Given the description of an element on the screen output the (x, y) to click on. 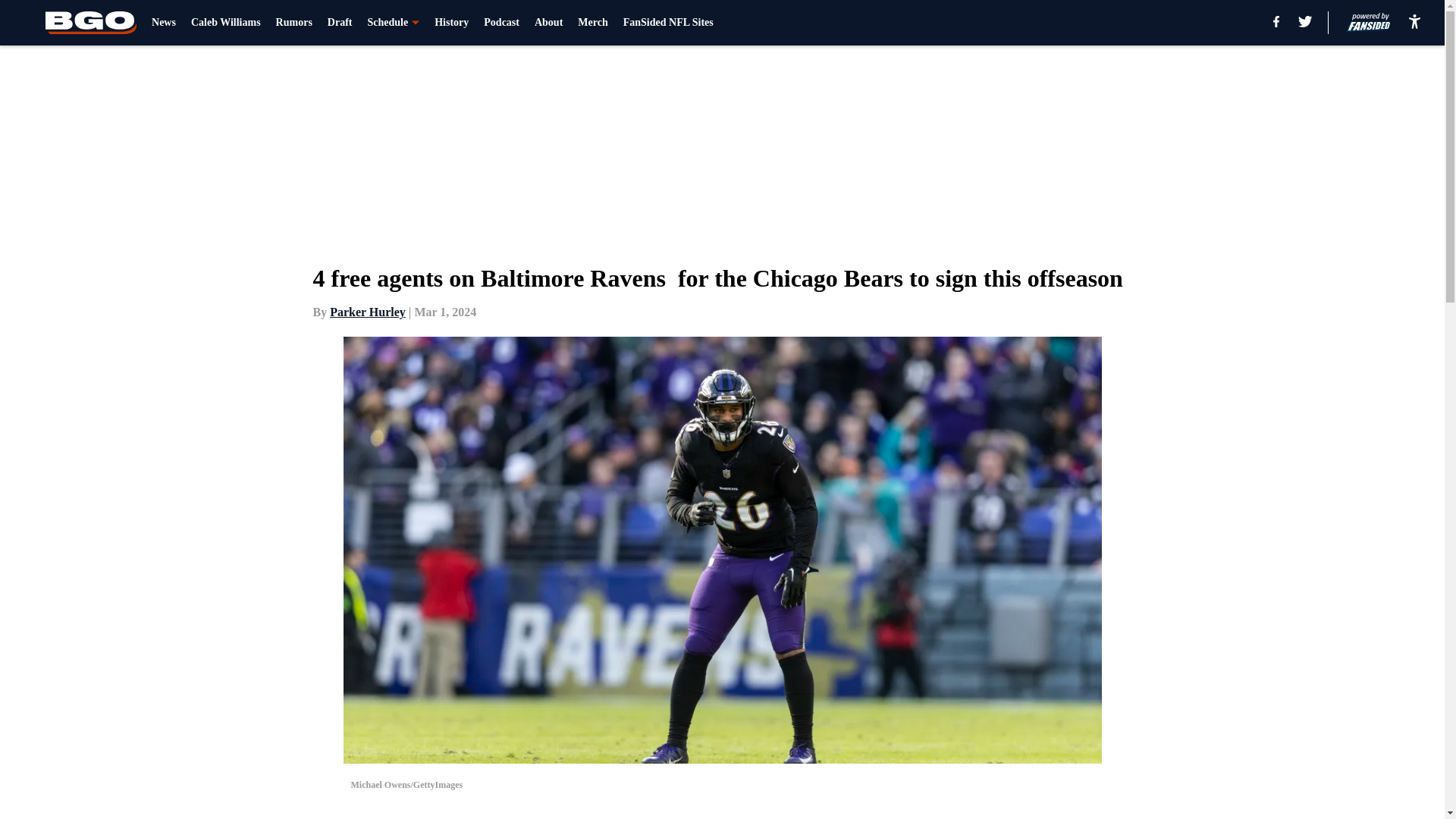
Draft (339, 22)
Merch (592, 22)
About (548, 22)
Caleb Williams (225, 22)
History (450, 22)
FanSided NFL Sites (668, 22)
Rumors (294, 22)
Podcast (501, 22)
News (163, 22)
Parker Hurley (368, 311)
